Given the description of an element on the screen output the (x, y) to click on. 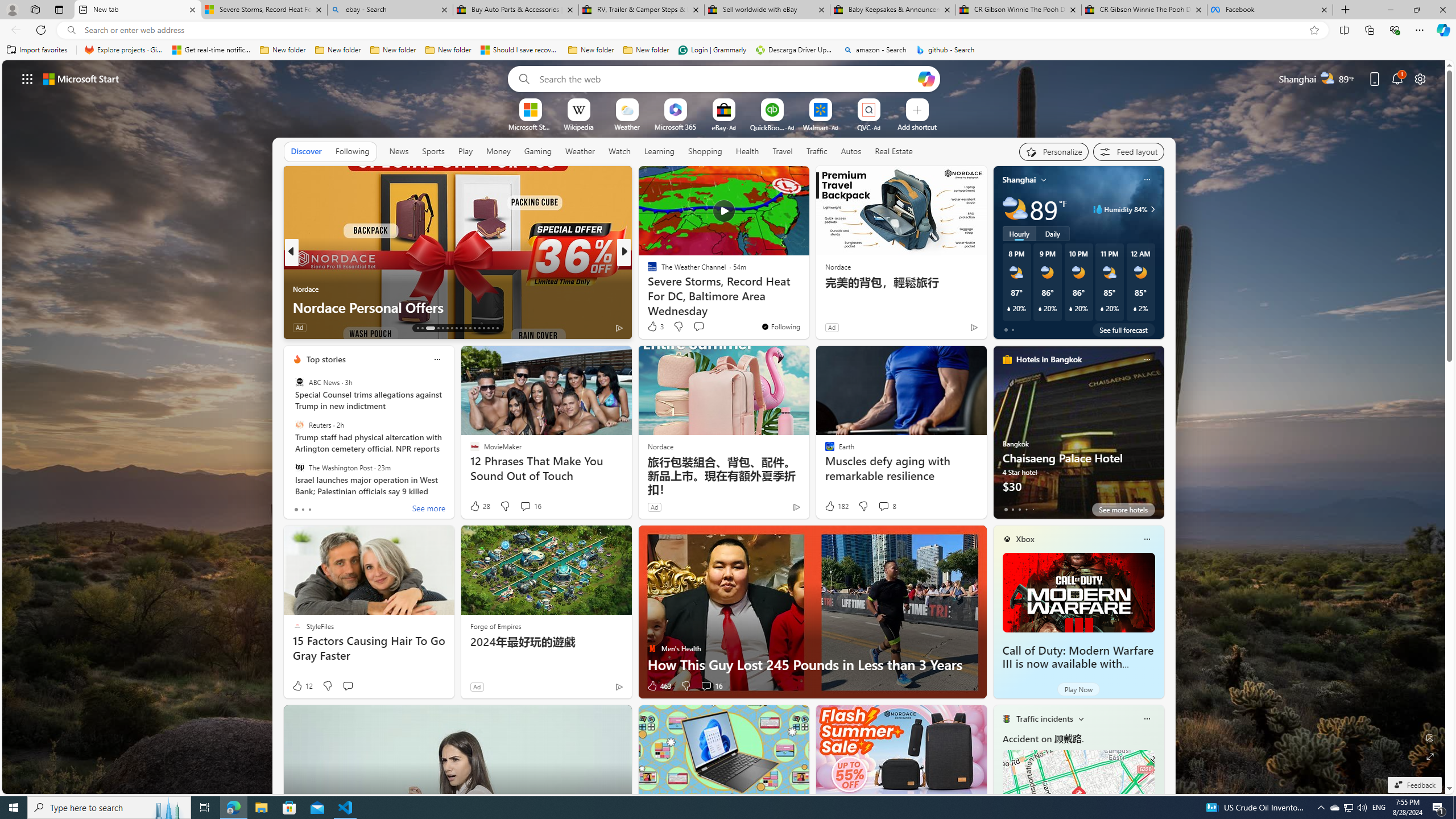
Xbox (1025, 538)
Reuters (299, 424)
Search icon (70, 29)
7 Like (651, 327)
TheStreet (647, 288)
AutomationID: tab-25 (478, 328)
3 Like (655, 326)
Hotels in Bangkok (1048, 359)
